Given the description of an element on the screen output the (x, y) to click on. 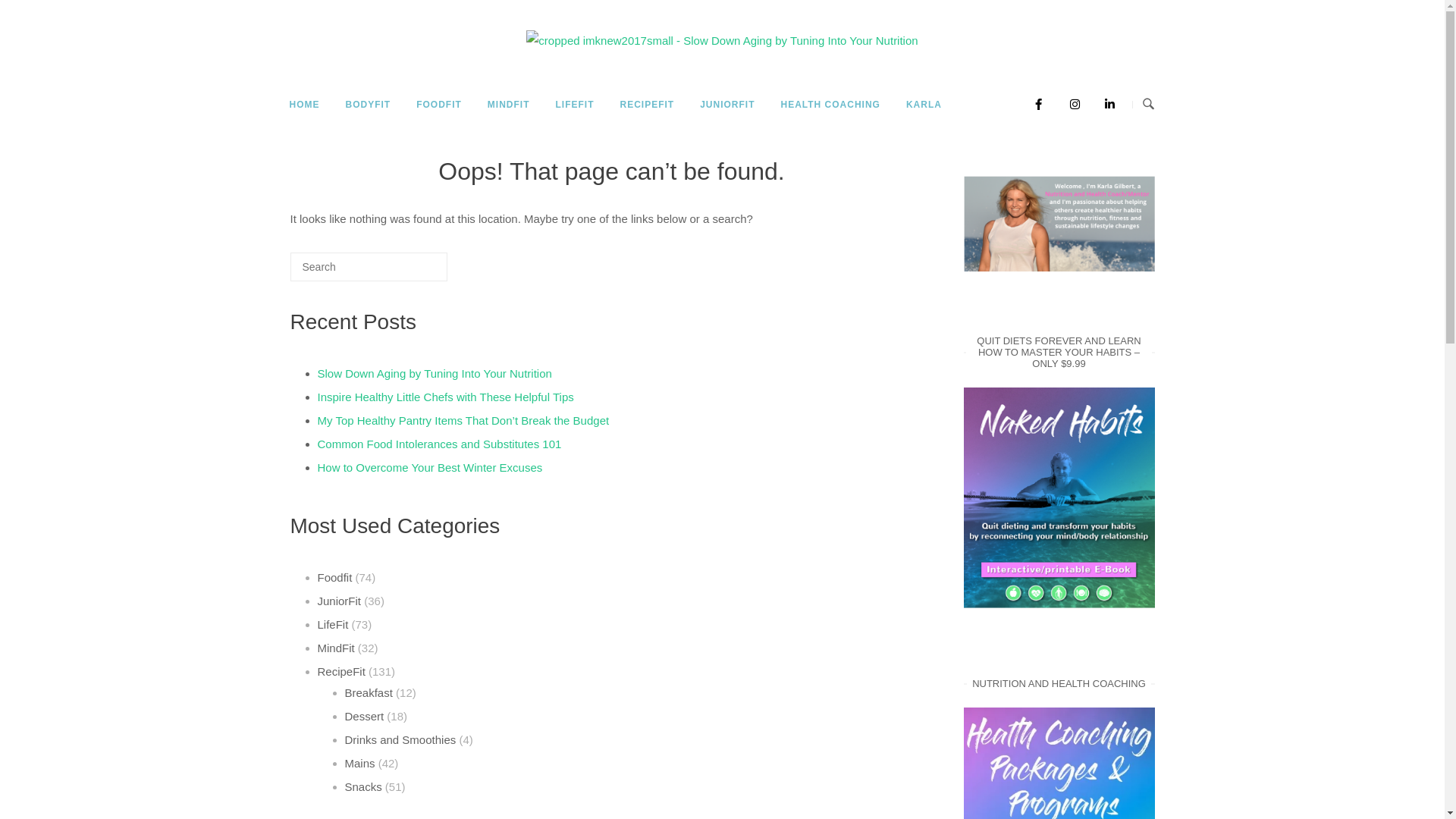
Dessert Element type: text (363, 715)
How to Overcome Your Best Winter Excuses Element type: text (429, 470)
BODYFIT Element type: text (367, 104)
Drinks and Smoothies Element type: text (399, 739)
RecipeFit Element type: text (340, 671)
LIFEFIT Element type: text (574, 104)
Foodfit Element type: text (333, 577)
IRONMUM KARLA on Linkedin Element type: hover (1105, 104)
HOME Element type: text (303, 104)
KARLA Element type: text (923, 104)
Home Element type: text (721, 40)
FOODFIT Element type: text (438, 104)
IRONMUM KARLA on Instagram Element type: hover (1070, 104)
Common Food Intolerances and Substitutes 101 Element type: text (438, 446)
JuniorFit Element type: text (338, 600)
Slow Down Aging by Tuning Into Your Nutrition Element type: hover (721, 40)
MINDFIT Element type: text (508, 104)
Snacks Element type: text (362, 786)
MindFit Element type: text (335, 647)
Mains Element type: text (359, 762)
Breakfast Element type: text (368, 692)
RECIPEFIT Element type: text (646, 104)
JUNIORFIT Element type: text (726, 104)
Inspire Healthy Little Chefs with These Helpful Tips Element type: text (444, 399)
Slow Down Aging by Tuning Into Your Nutrition Element type: text (433, 376)
LifeFit Element type: text (332, 624)
HEALTH COACHING Element type: text (830, 104)
IRONMUM KARLA on Facebook Element type: hover (1034, 104)
